Given the description of an element on the screen output the (x, y) to click on. 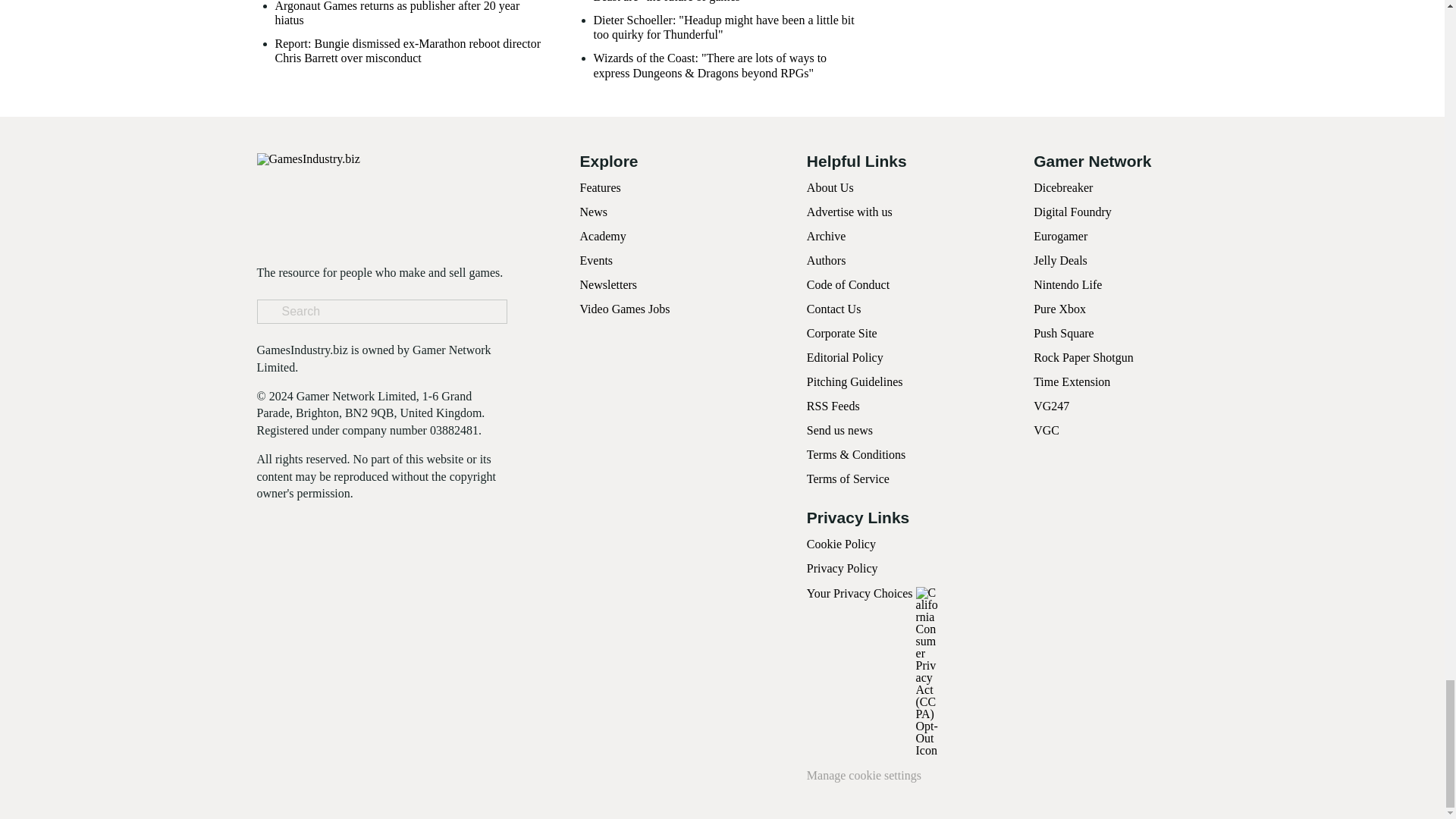
News (593, 211)
About Us (829, 187)
Academy (602, 236)
Video Games Jobs (624, 308)
Newsletters (608, 284)
Events (595, 259)
Features (599, 187)
